Given the description of an element on the screen output the (x, y) to click on. 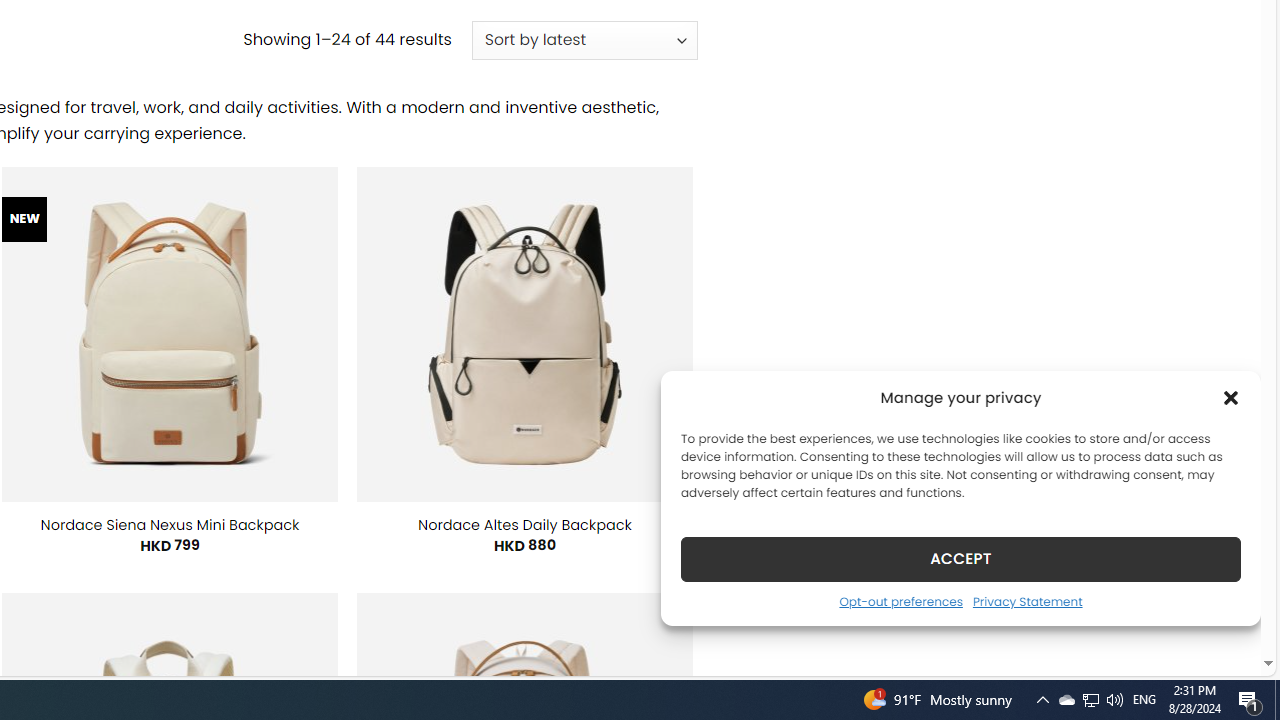
Shop order (584, 40)
Nordace Siena Nexus Mini Backpack (169, 524)
Privacy Statement (1026, 601)
Class: cmplz-close (1231, 397)
Opt-out preferences (900, 601)
ACCEPT (960, 558)
Nordace Altes Daily Backpack (525, 524)
